Given the description of an element on the screen output the (x, y) to click on. 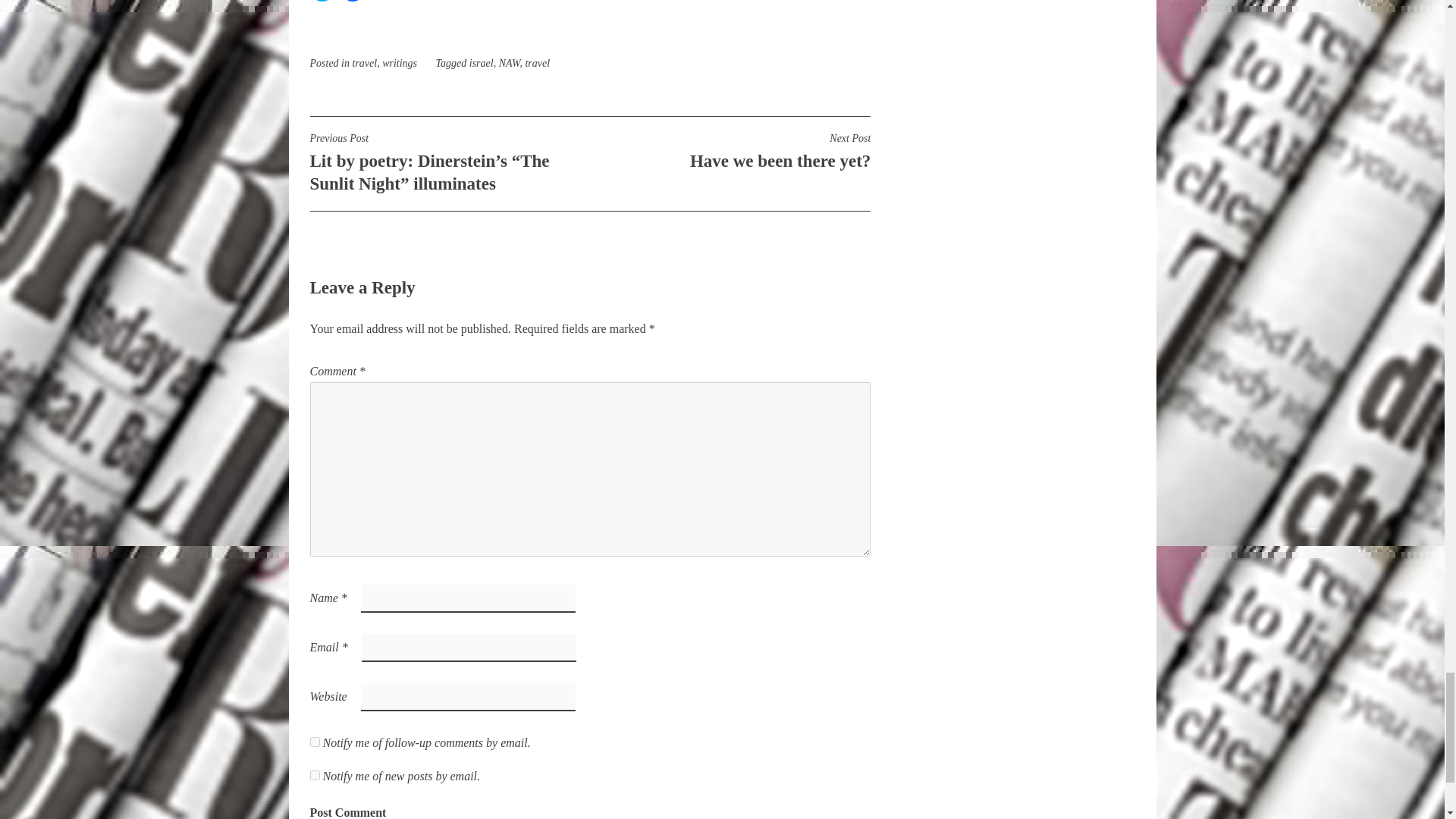
subscribe (313, 775)
travel (537, 62)
writings (729, 150)
NAW (398, 62)
travel (509, 62)
Post Comment (364, 62)
Click to share on Twitter (346, 809)
Post Comment (320, 0)
Click to share on Facebook (346, 809)
